Given the description of an element on the screen output the (x, y) to click on. 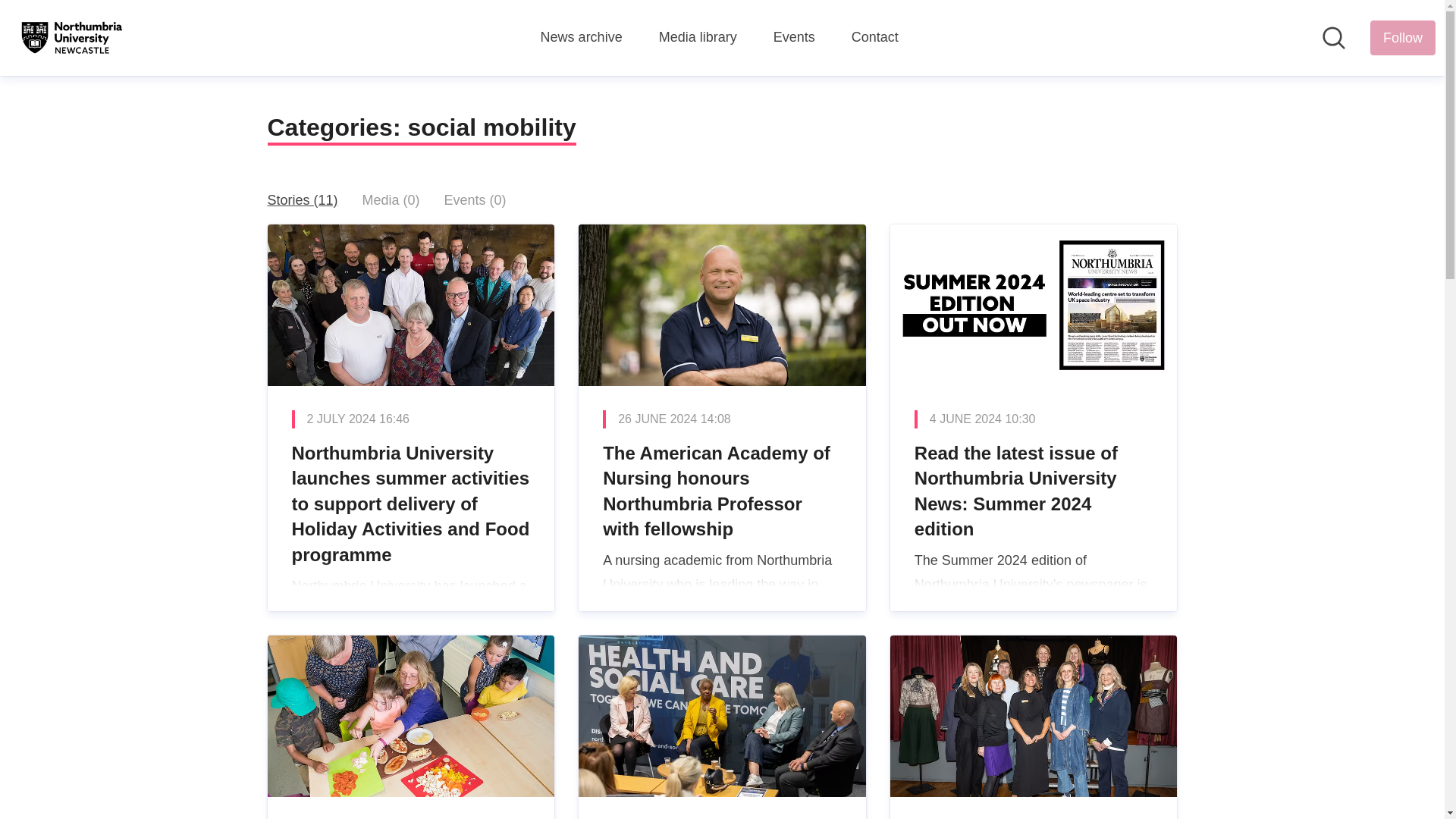
Media library (697, 37)
Search in newsroom (1333, 37)
Follow (1402, 37)
Events (794, 37)
Contact (874, 37)
News archive (581, 37)
